Given the description of an element on the screen output the (x, y) to click on. 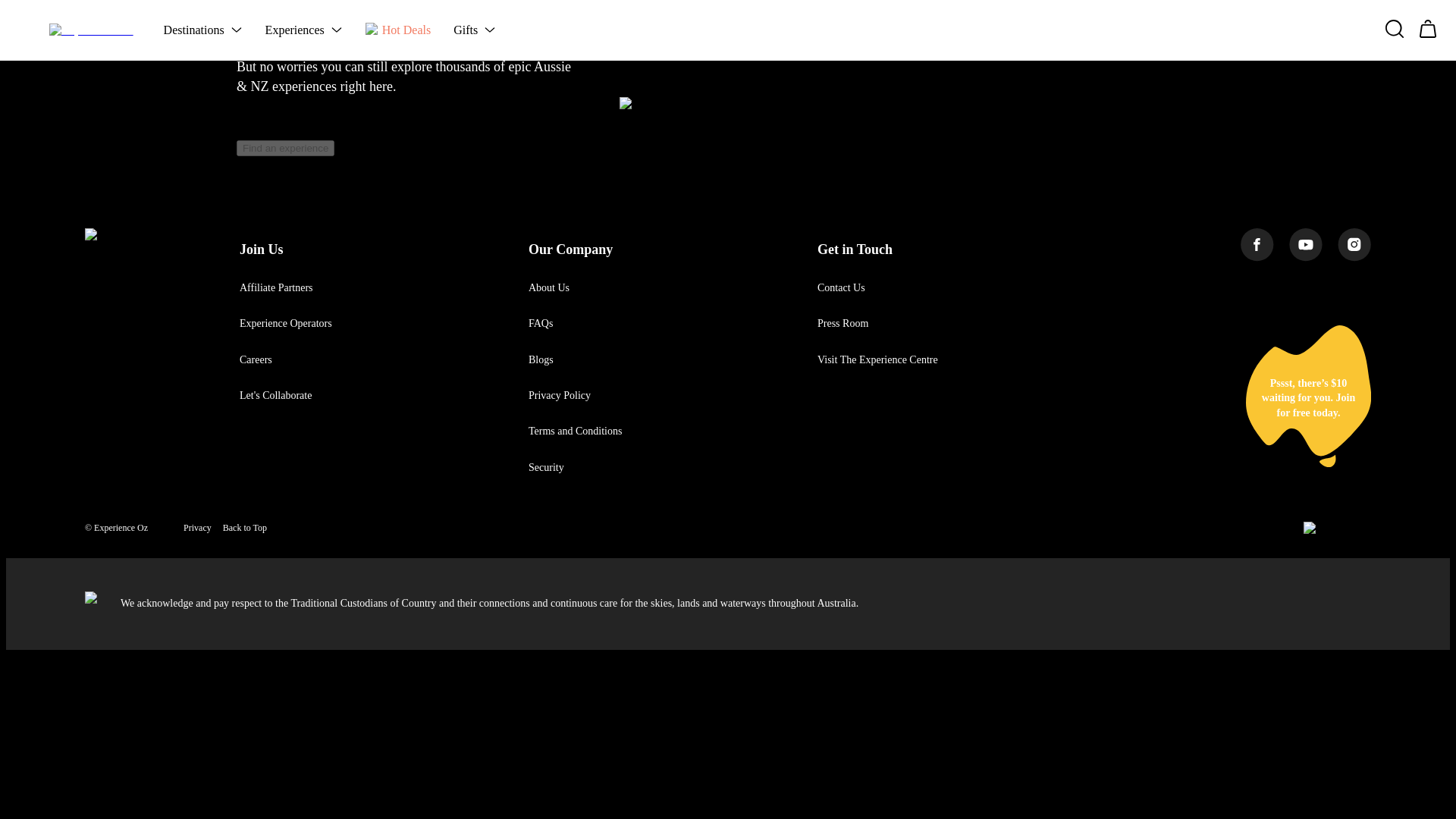
Careers (256, 359)
Visit The Experience Centre (876, 359)
View cart (262, 194)
Contact Us (840, 287)
Terms and Conditions (574, 430)
Privacy (197, 527)
FAQs (540, 323)
Privacy Policy (559, 395)
Find an experience (284, 148)
Press Room (841, 323)
Blogs (540, 359)
Experience Operators (285, 323)
Let's Collaborate (275, 395)
Affiliate Partners (276, 287)
Security (546, 467)
